Given the description of an element on the screen output the (x, y) to click on. 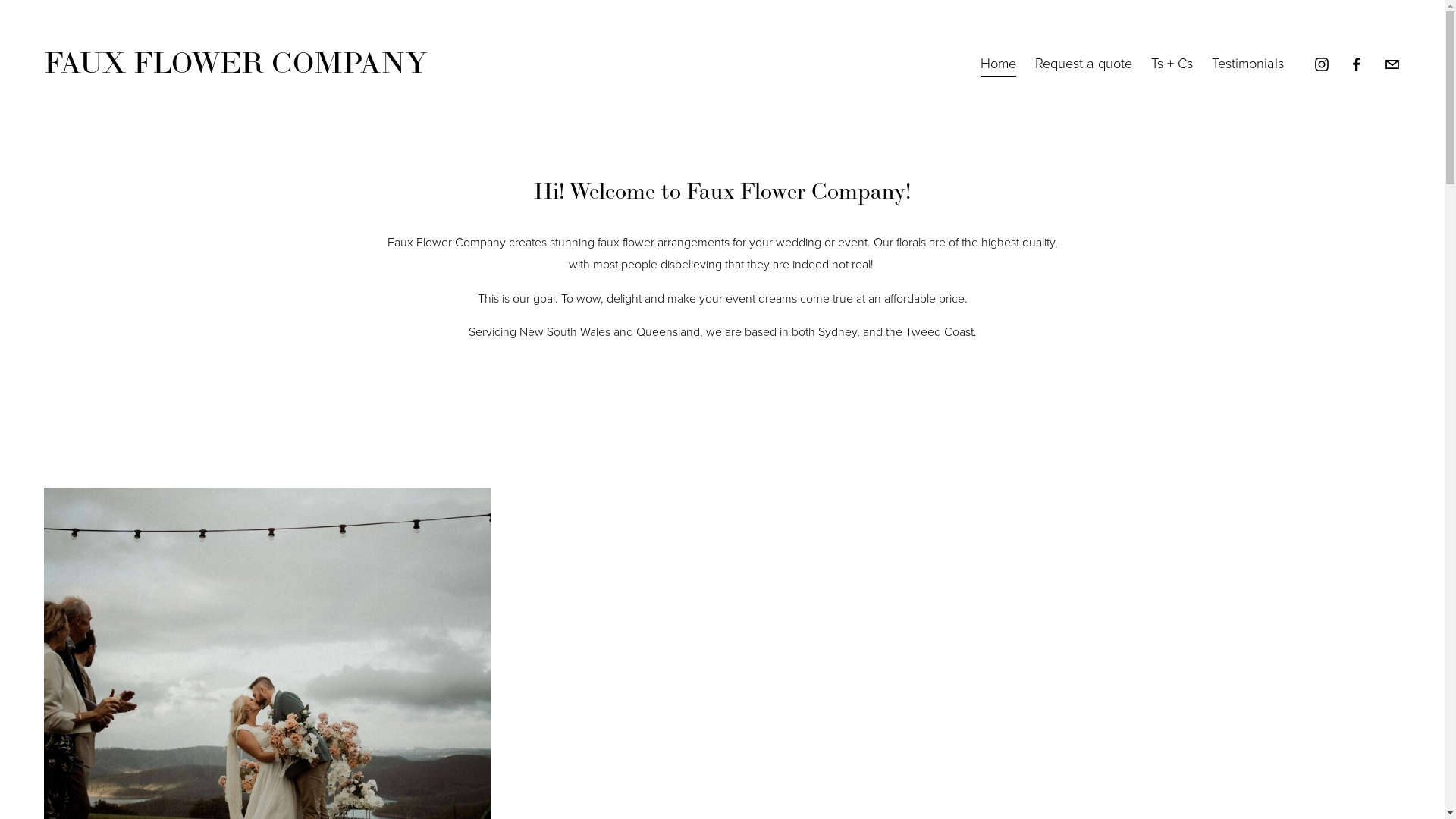
Home Element type: text (998, 64)
FAUX FLOWER COMPANY Element type: text (234, 63)
Testimonials Element type: text (1247, 64)
Ts + Cs Element type: text (1171, 64)
Request a quote Element type: text (1083, 64)
